Given the description of an element on the screen output the (x, y) to click on. 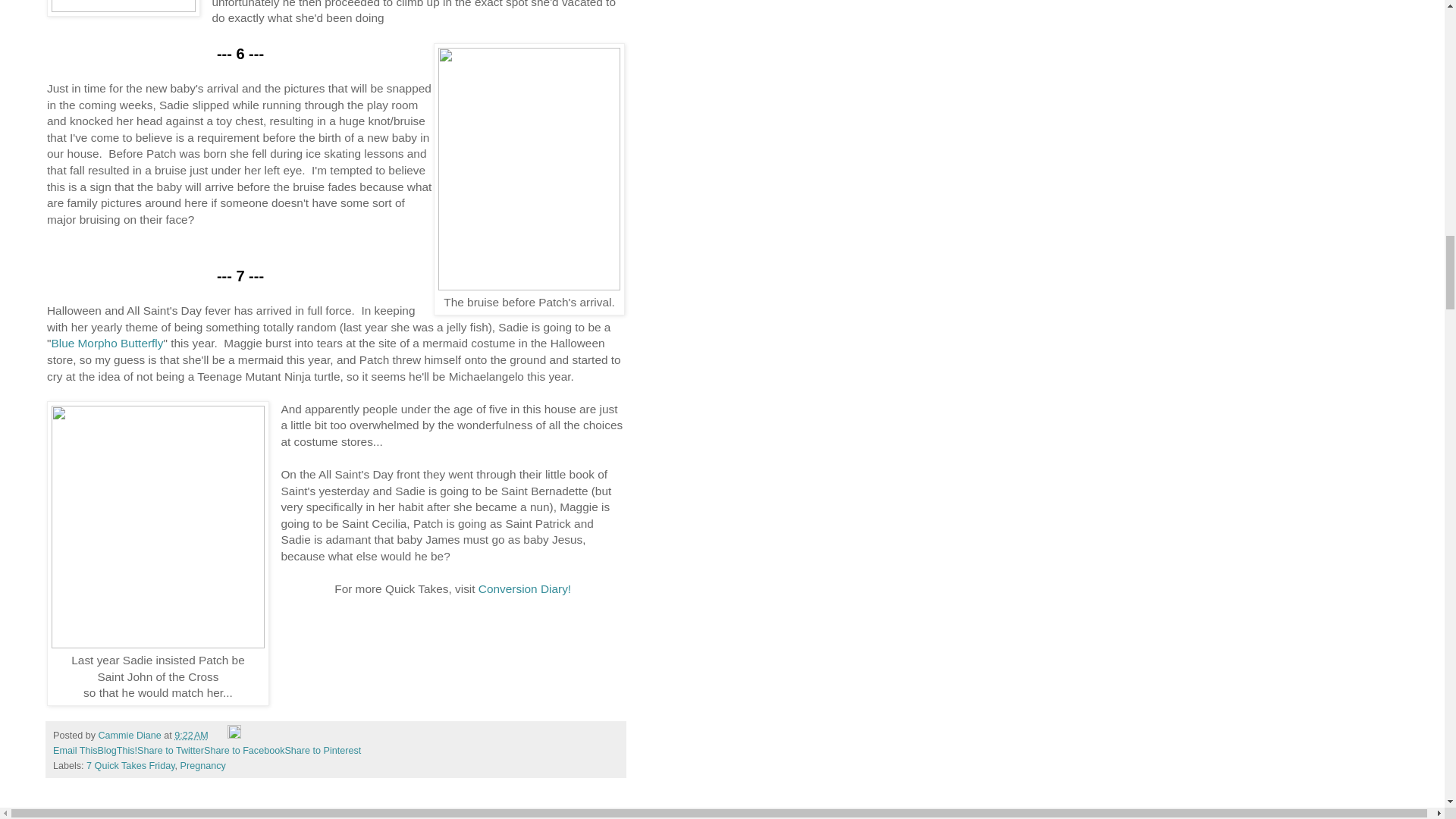
Email Post (219, 735)
Email This (74, 750)
Cammie Diane (131, 735)
--- 6 --- (239, 53)
Edit Post (234, 735)
--- 7 --- (239, 275)
BlogThis! (117, 750)
Email This (74, 750)
author profile (131, 735)
permanent link (191, 735)
Share to Pinterest (322, 750)
Share to Facebook (243, 750)
Blue Morpho Butterfly (106, 342)
Conversion Diary! (524, 588)
BlogThis! (117, 750)
